Given the description of an element on the screen output the (x, y) to click on. 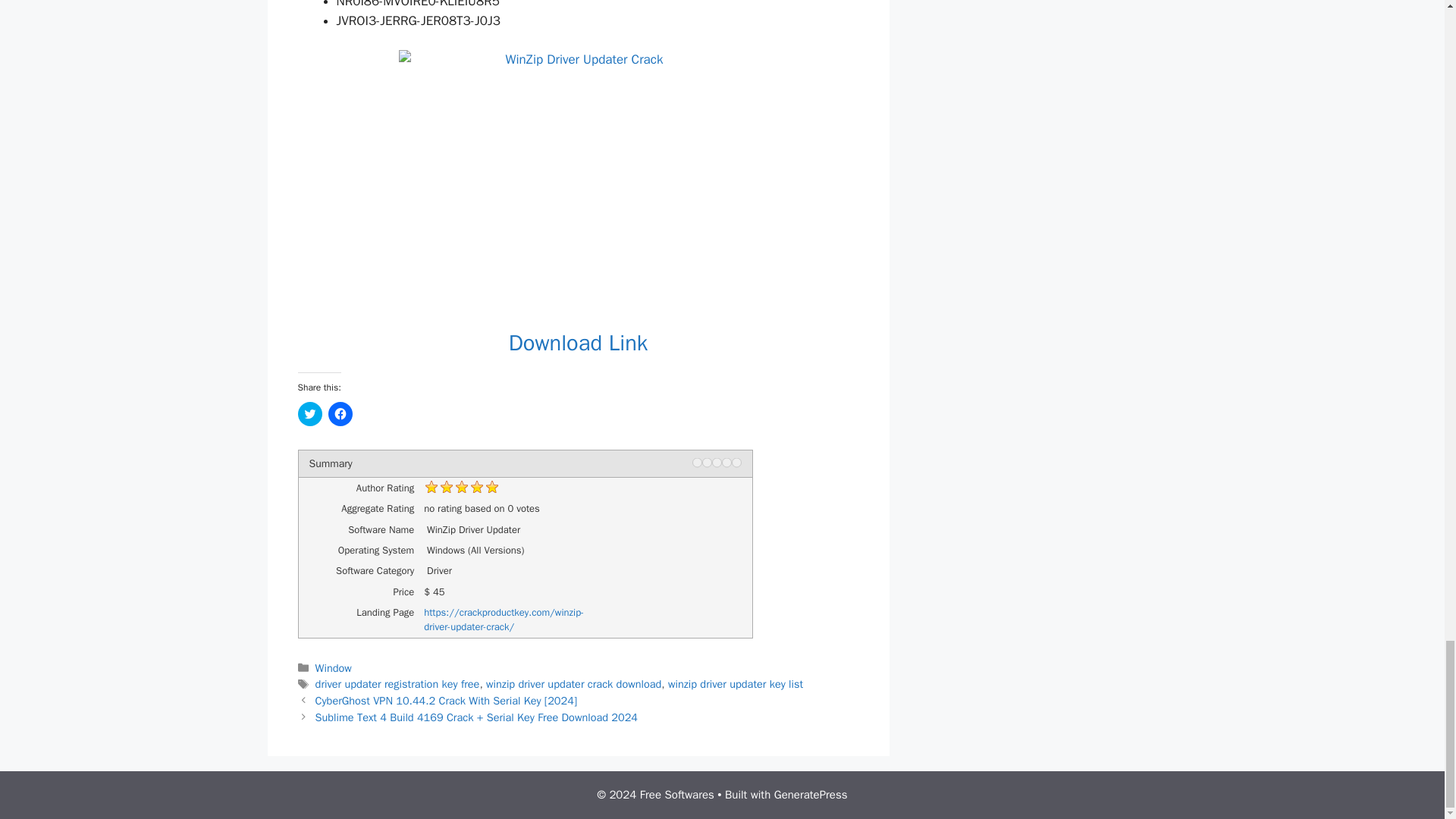
winzip driver updater crack download (573, 684)
3 (715, 461)
driver updater registration key free (397, 684)
1 (696, 461)
4 (727, 461)
Click to share on Twitter (309, 413)
2 (706, 461)
WinZip Driver Updater Crack  (577, 180)
Window (333, 667)
Download Link (577, 343)
Click to share on Facebook (339, 413)
winzip driver updater key list (735, 684)
5 (735, 461)
